Given the description of an element on the screen output the (x, y) to click on. 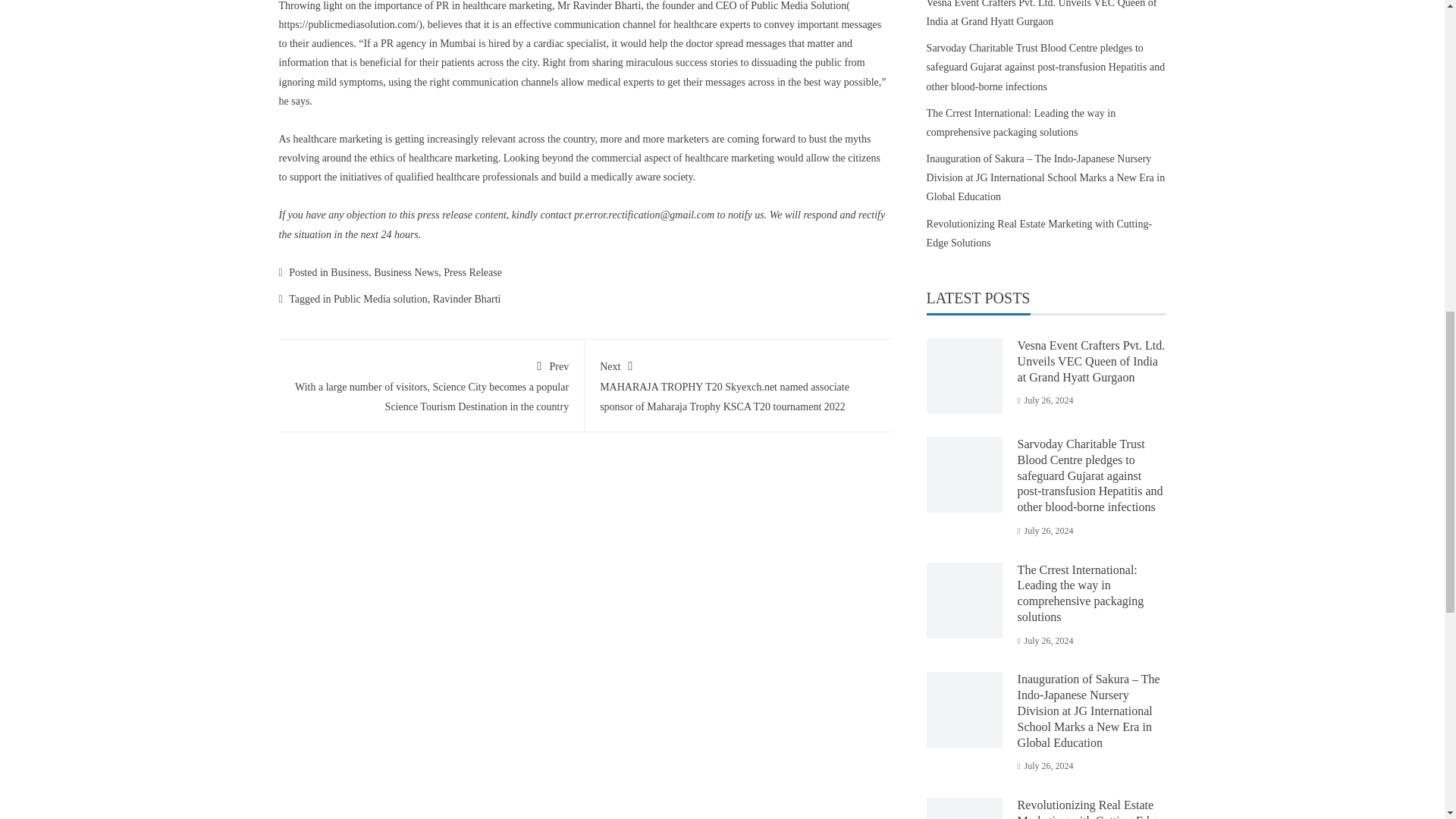
Business (349, 272)
PR agency in Mumbai (428, 43)
Press Release (473, 272)
Business News (406, 272)
Public Media solution (380, 298)
Ravinder Bharti (466, 298)
